Given the description of an element on the screen output the (x, y) to click on. 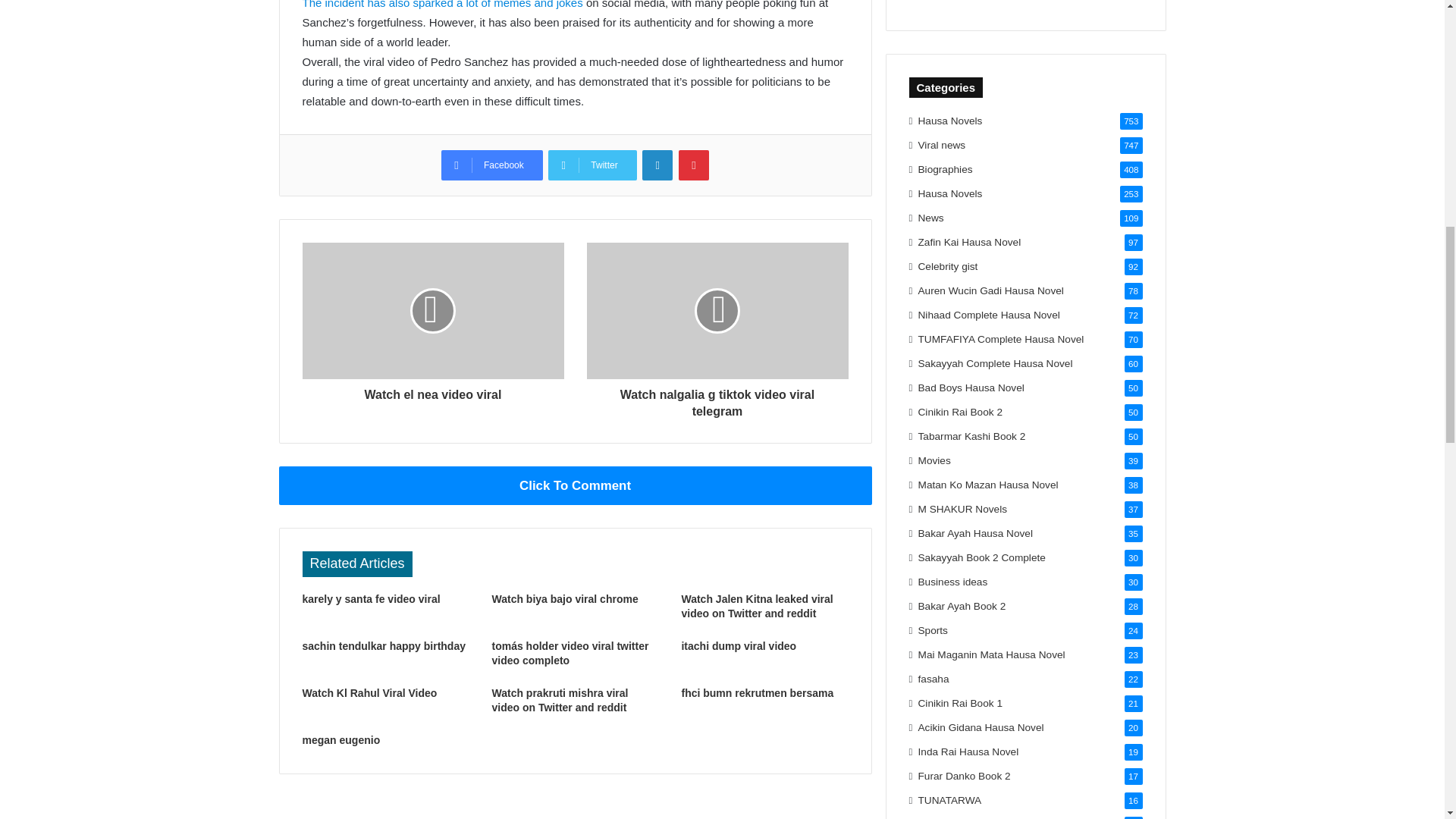
Click To Comment (575, 485)
Watch el nea video viral (432, 391)
LinkedIn (657, 164)
Pinterest (693, 164)
The incident has also sparked a lot of memes and jokes (443, 4)
Pinterest (693, 164)
Facebook (492, 164)
Watch nalgalia g tiktok video viral telegram (717, 399)
Twitter (592, 164)
Twitter (592, 164)
